Given the description of an element on the screen output the (x, y) to click on. 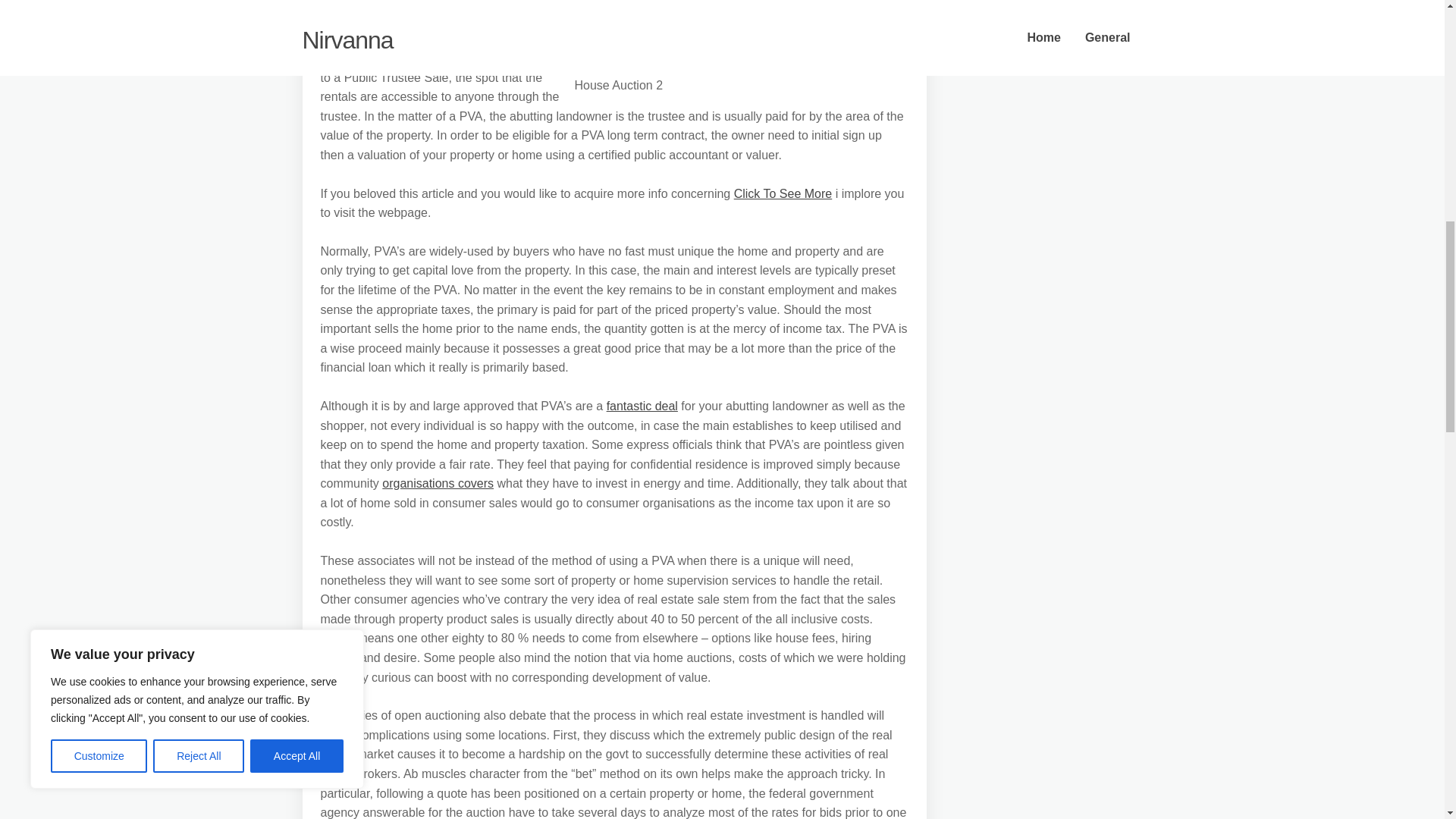
organisations covers (437, 482)
Click To See More (782, 193)
fantastic deal (642, 405)
